Given the description of an element on the screen output the (x, y) to click on. 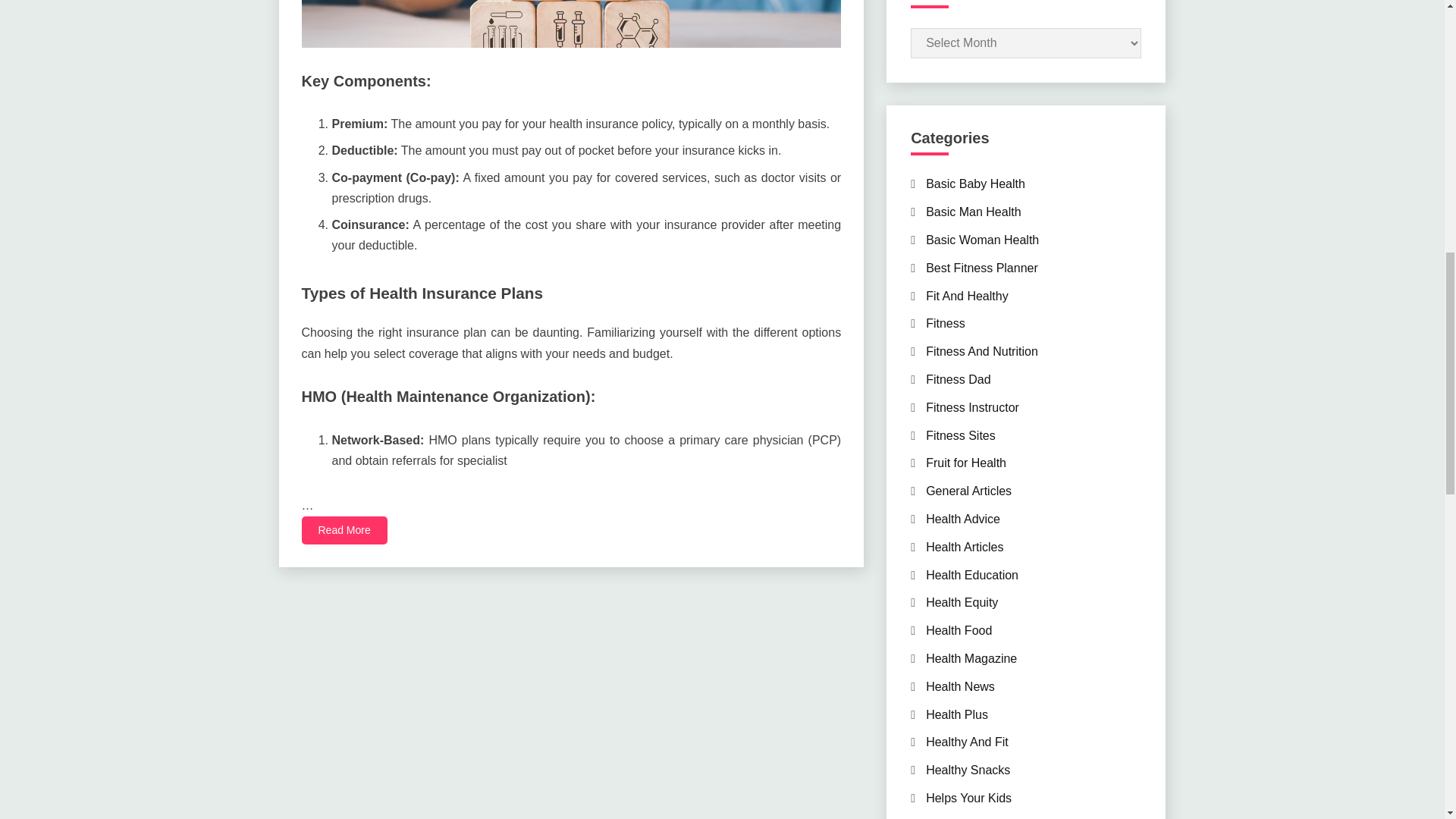
Read More (344, 530)
